Given the description of an element on the screen output the (x, y) to click on. 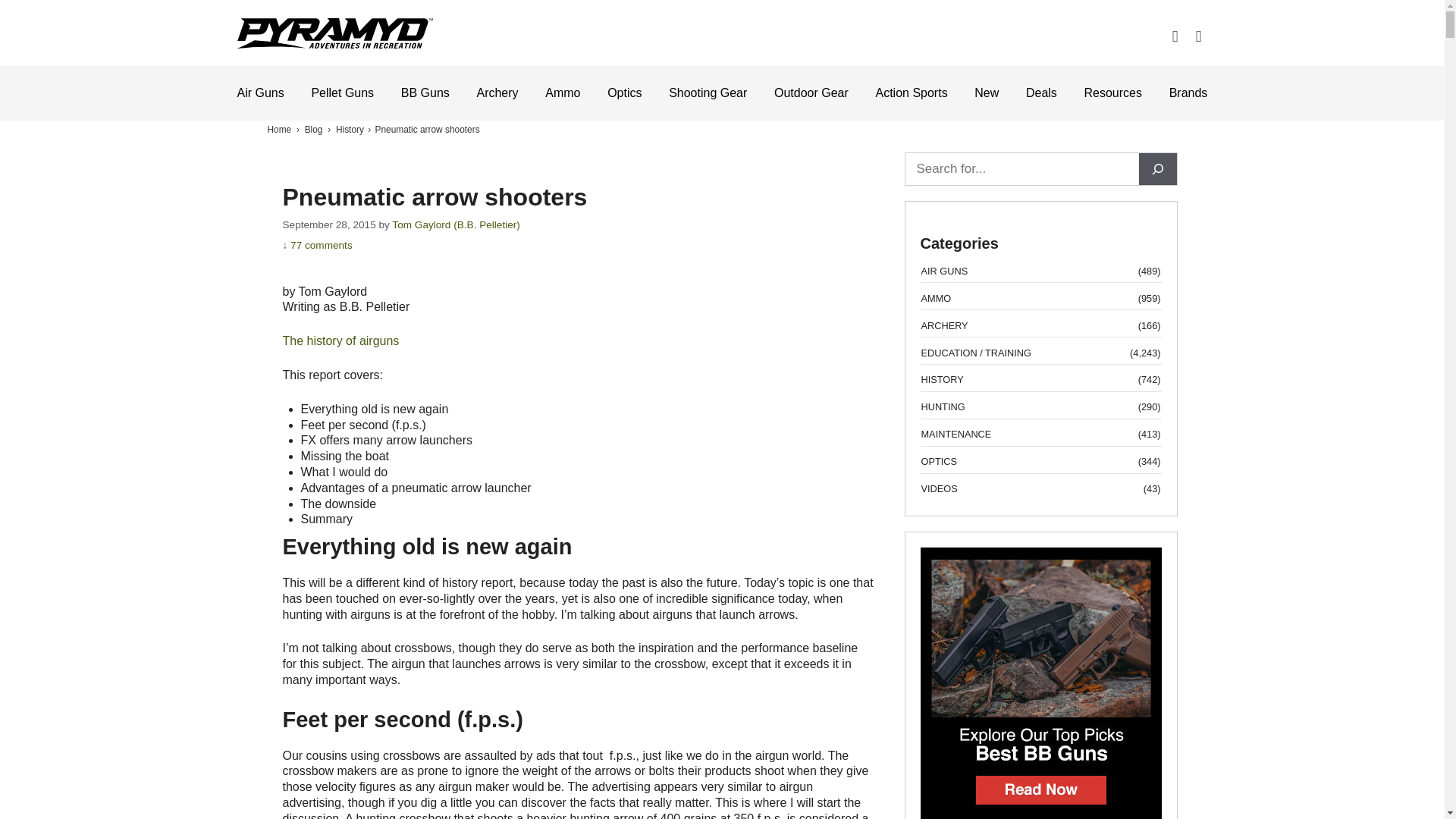
Ammo (561, 92)
Home (278, 129)
Brands (1188, 92)
Action Sports (911, 92)
View the Best BB Guns (1040, 813)
Blog (313, 129)
History (350, 129)
Resources (1112, 92)
Outdoor Gear (811, 92)
Air Guns (259, 92)
Archery (497, 92)
Optics (624, 92)
Home (278, 129)
Shooting Gear (707, 92)
Deals (1041, 92)
